Given the description of an element on the screen output the (x, y) to click on. 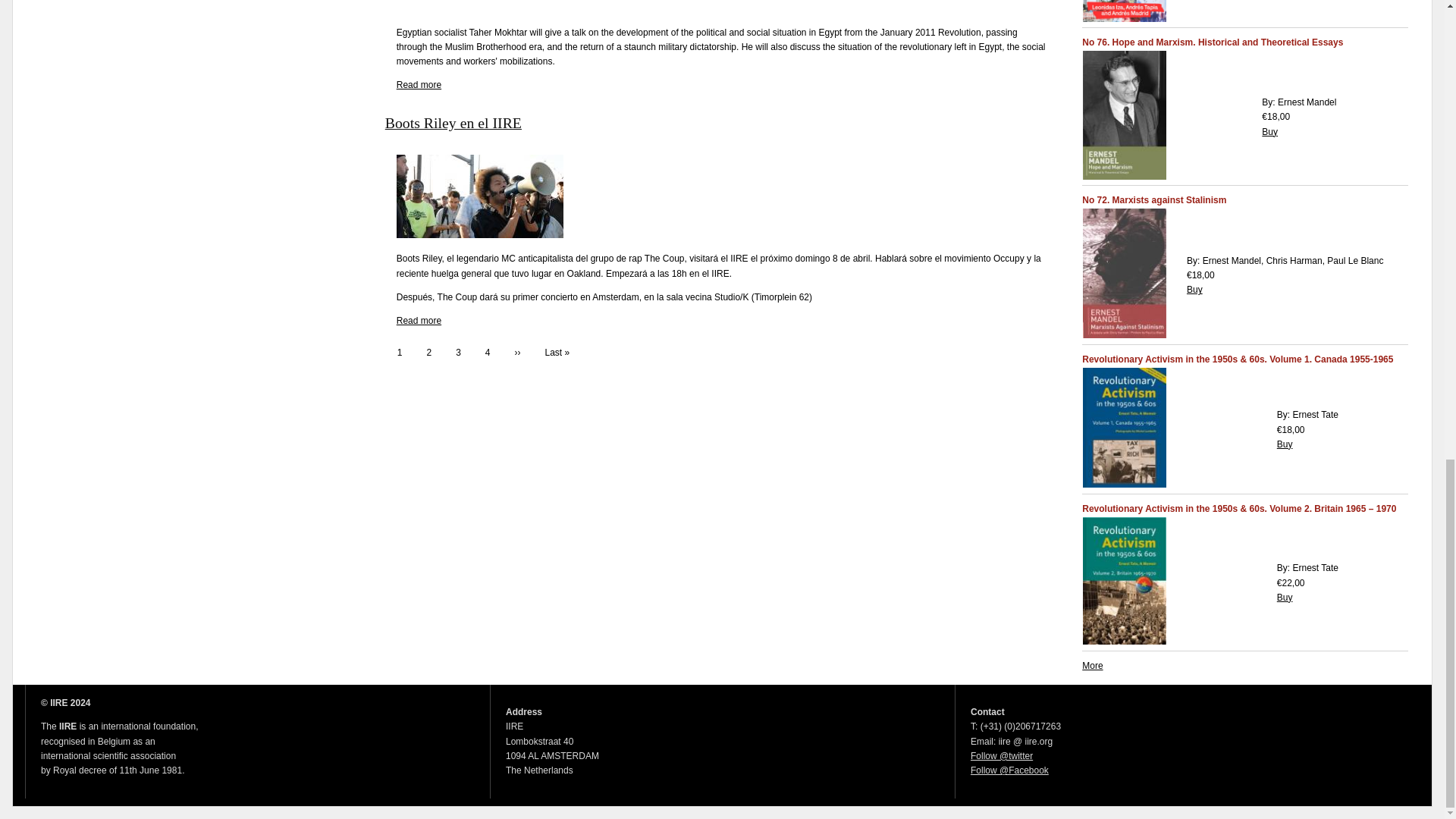
Go to page 3 (458, 352)
Go to page 4 (487, 352)
Go to page 2 (428, 352)
